Given the description of an element on the screen output the (x, y) to click on. 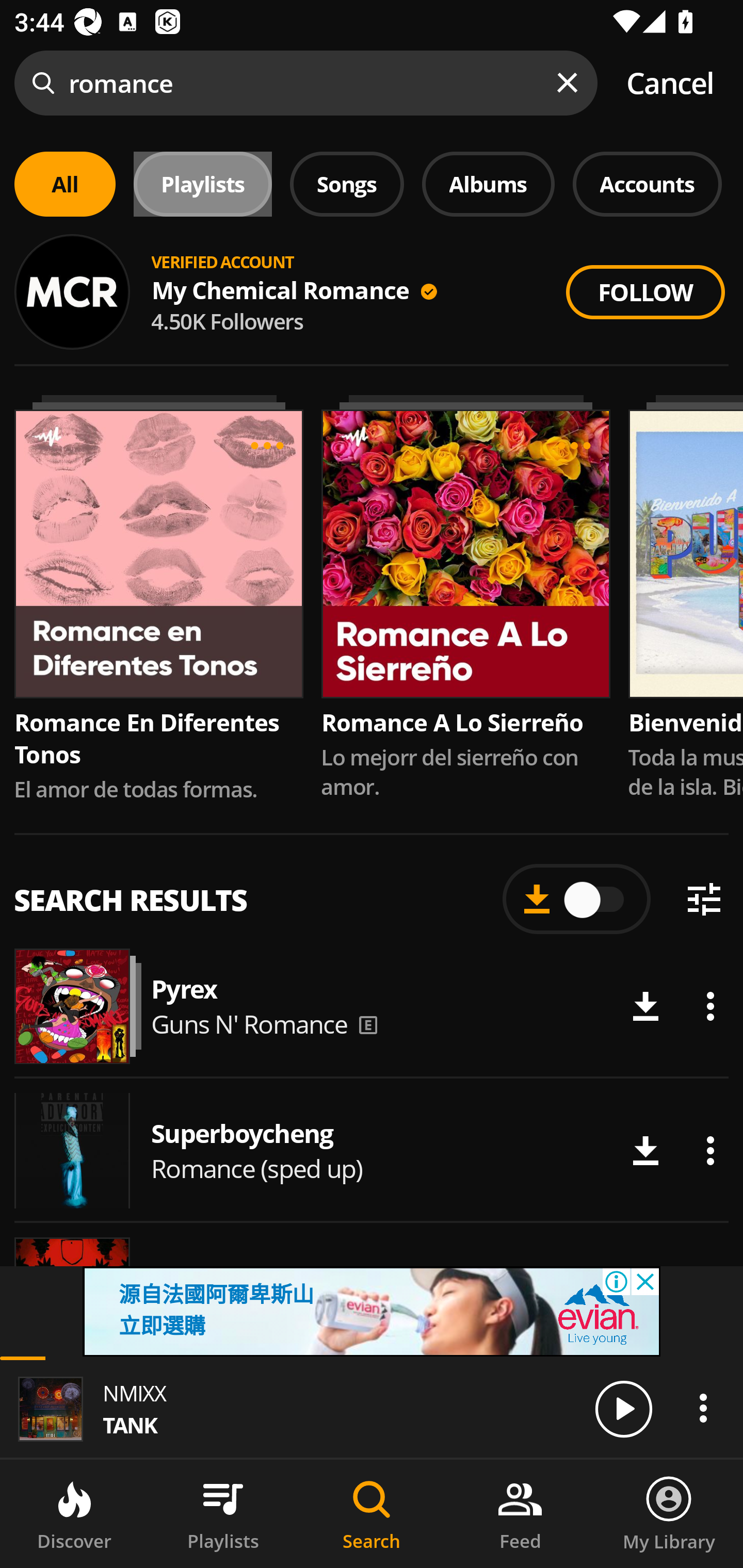
romance Cancel (371, 82)
Cancel (670, 82)
All (64, 184)
Playlists (202, 184)
Songs (346, 184)
Albums (488, 184)
Accounts (647, 184)
All Country Afrosounds Pop Caribbean (371, 275)
FOLLOW Follow/Unfollow (645, 291)
Download (644, 1005)
Actions (710, 1005)
Download (644, 1150)
Actions (710, 1150)
Actions (703, 1407)
Play/Pause (623, 1408)
Discover (74, 1513)
Playlists (222, 1513)
Search (371, 1513)
Feed (519, 1513)
My Library (668, 1513)
